Given the description of an element on the screen output the (x, y) to click on. 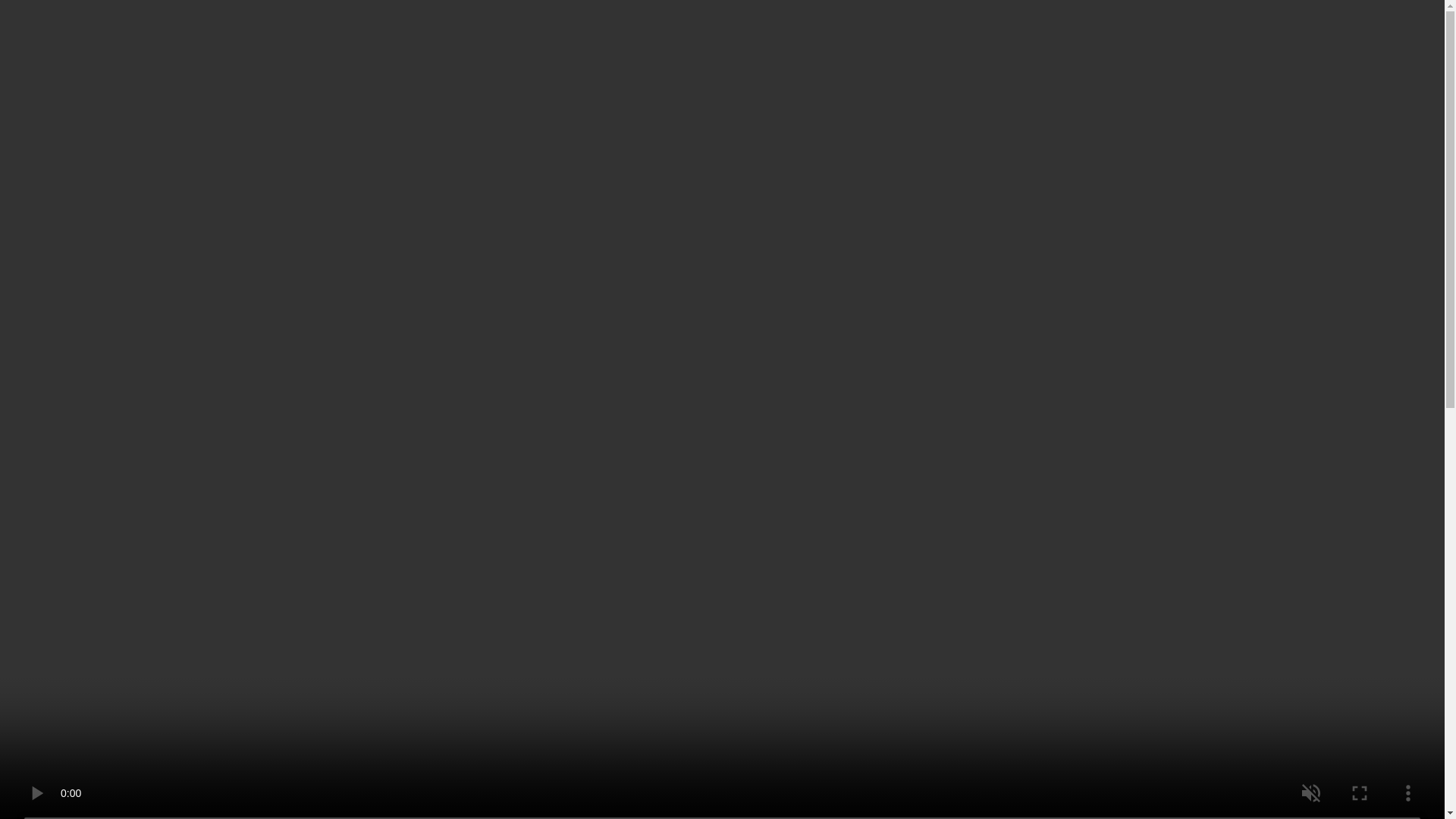
1 (786, 370)
Follow on Tiktok (269, 790)
Follow on Instagram (187, 790)
Best Sellers (727, 47)
Customer Reviews (1024, 645)
Size Guide (811, 285)
Care Instuction (1024, 603)
2024 Collection (549, 47)
Returns (1024, 560)
Details (1024, 476)
